Given the description of an element on the screen output the (x, y) to click on. 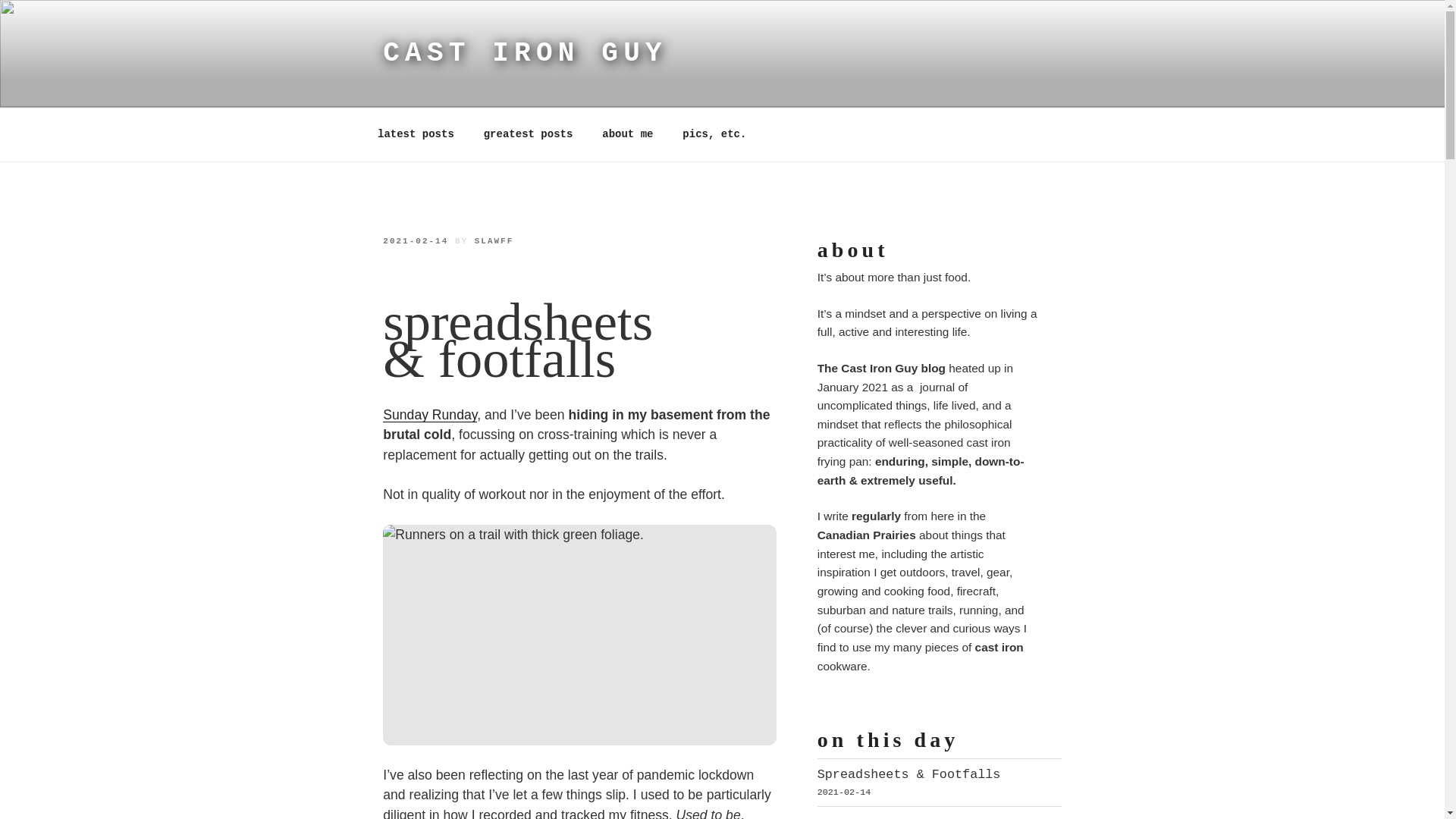
SLAWFF (493, 240)
Sunday Runday (429, 414)
about me (627, 134)
CAST IRON GUY (524, 52)
greatest posts (528, 134)
pics, etc. (714, 134)
2021-02-14 (415, 240)
latest posts (415, 134)
